Given the description of an element on the screen output the (x, y) to click on. 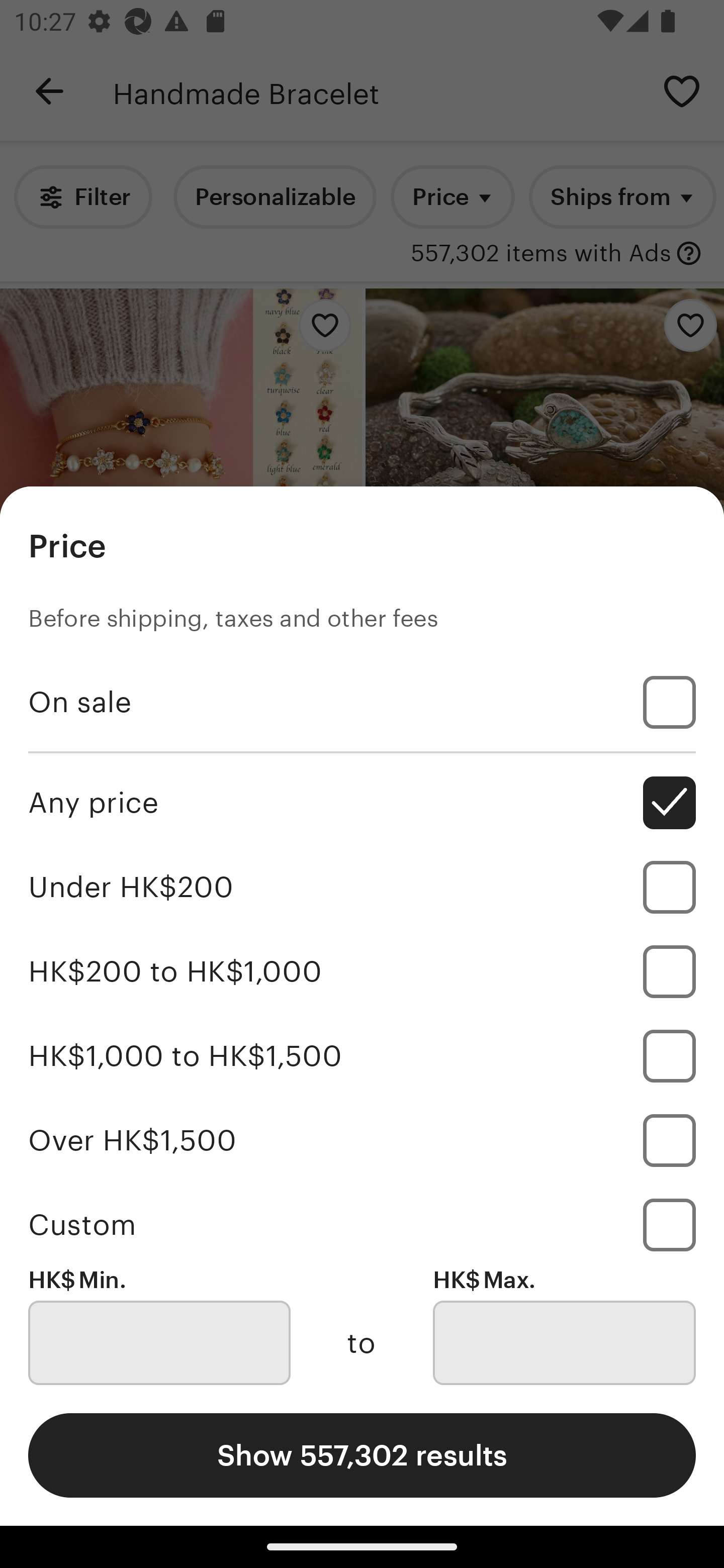
On sale (362, 702)
Any price (362, 802)
Under HK$200 (362, 887)
HK$200 to HK$1,000 (362, 970)
HK$1,000 to HK$1,500 (362, 1054)
Over HK$1,500 (362, 1139)
Custom (362, 1224)
Show 557,302 results (361, 1454)
